Given the description of an element on the screen output the (x, y) to click on. 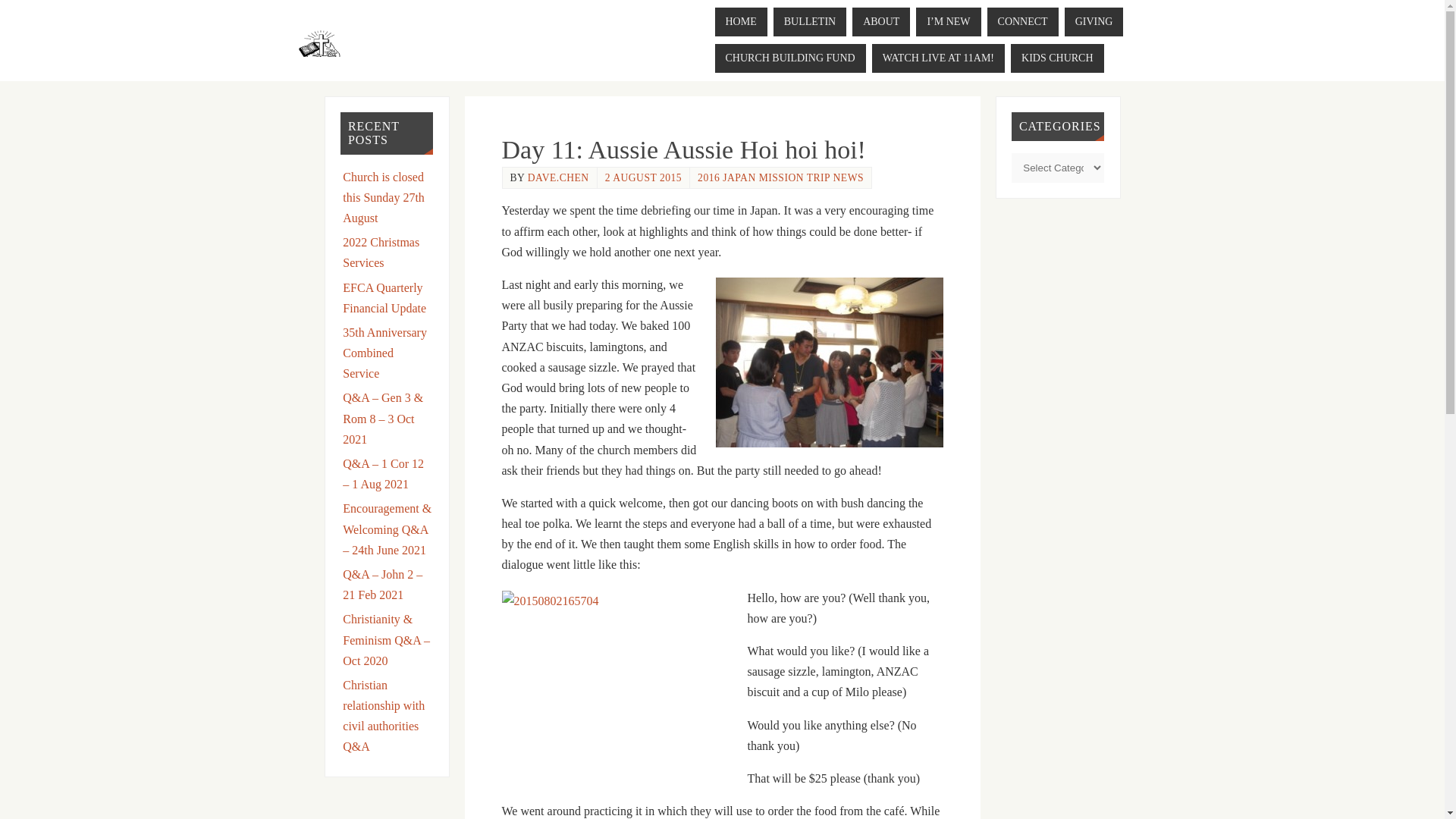
View all posts by dave.chen (558, 177)
BULLETIN (809, 21)
KIDS CHURCH (1056, 58)
Church is closed this Sunday 27th August (383, 197)
WATCH LIVE AT 11AM! (938, 58)
35th Anniversary Combined Service (384, 352)
EFCA (318, 50)
CHURCH BUILDING FUND (789, 58)
CONNECT (1022, 21)
2016 JAPAN MISSION TRIP NEWS (780, 177)
